Given the description of an element on the screen output the (x, y) to click on. 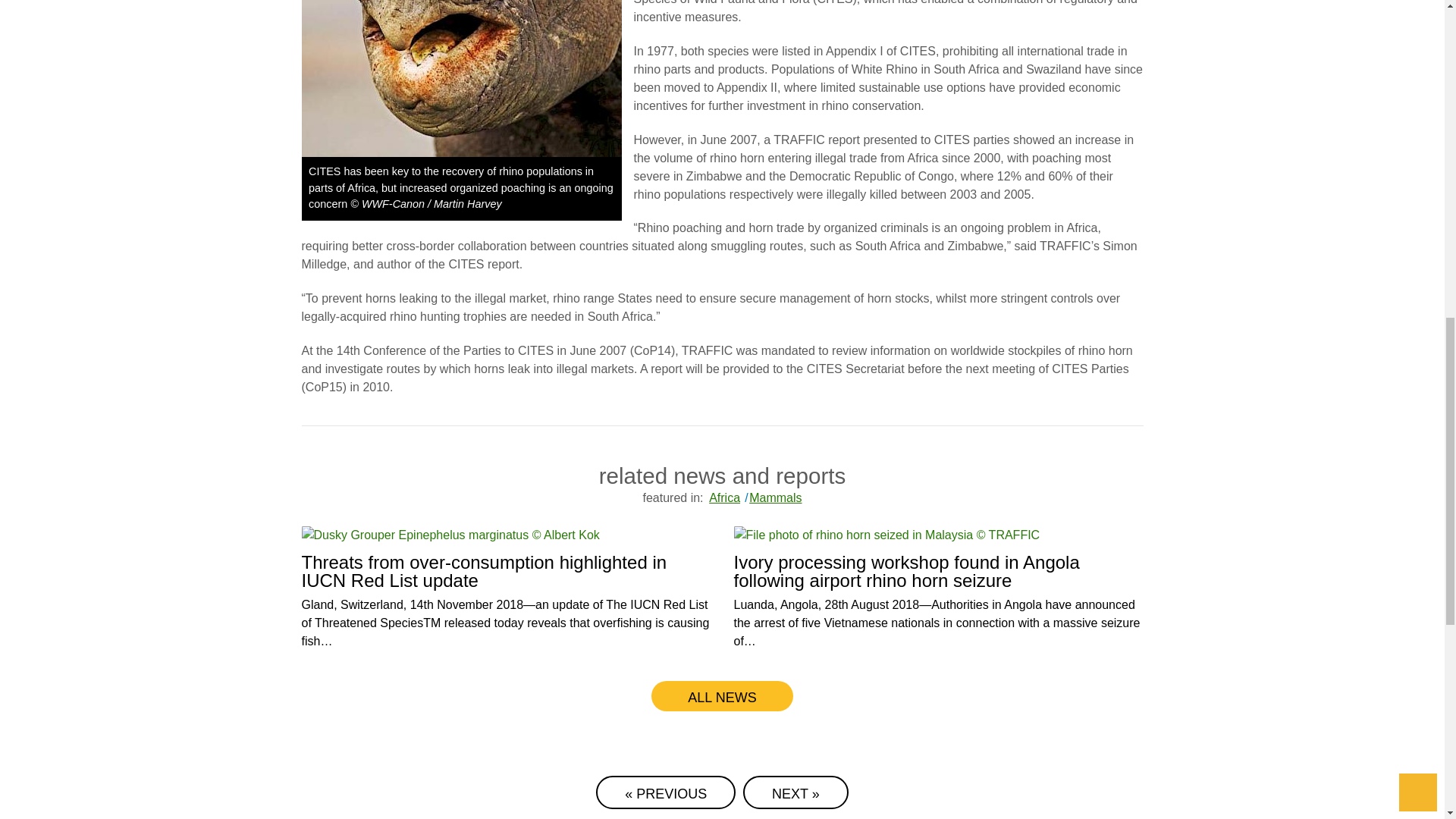
ALL NEWS (721, 695)
Mammals (773, 497)
17 March 2008: 23 tonnes of pangolins seized in a week (665, 792)
Africa (722, 497)
